Given the description of an element on the screen output the (x, y) to click on. 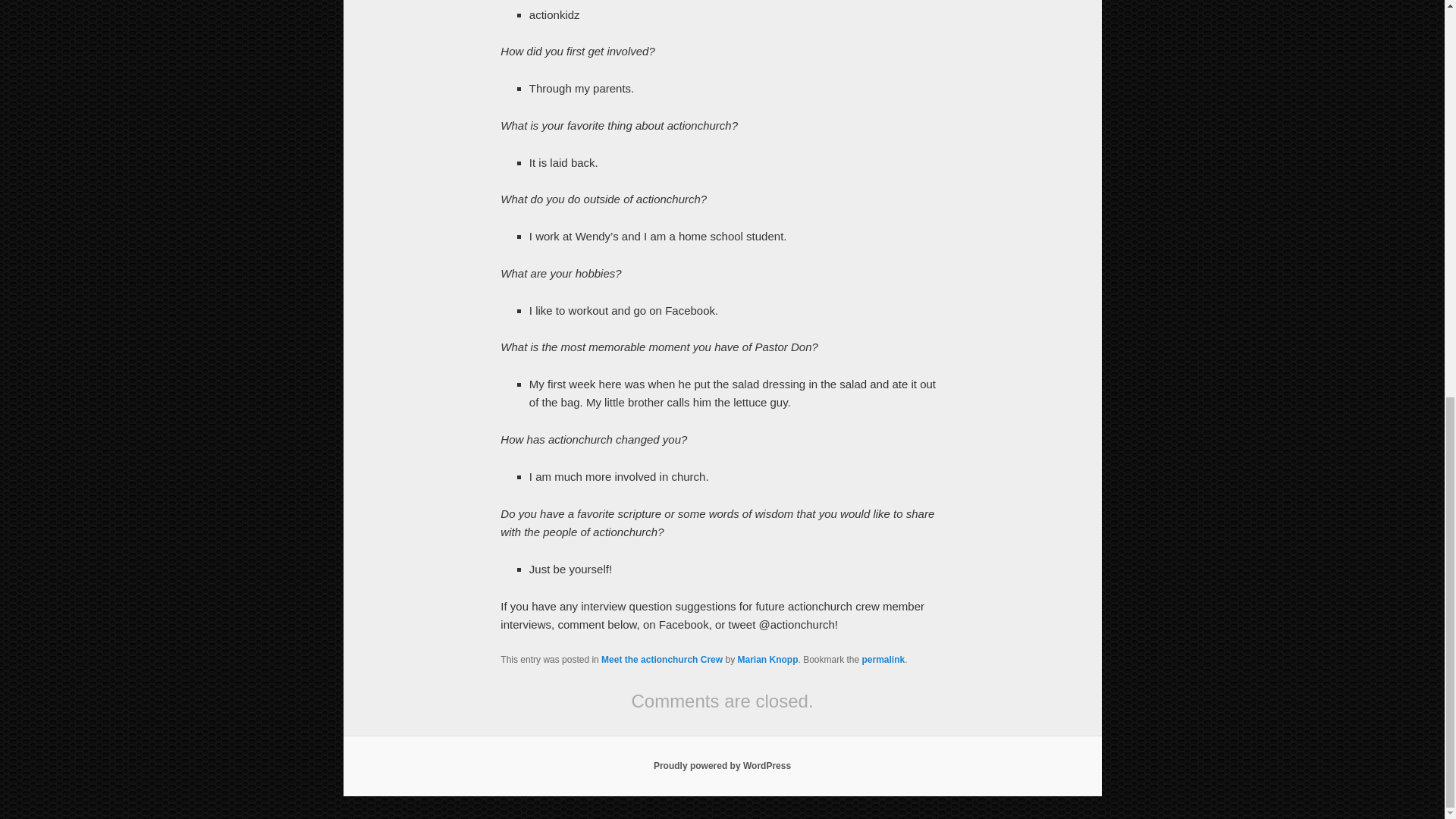
Semantic Personal Publishing Platform (721, 765)
Proudly powered by WordPress (721, 765)
Permalink to actionchurch Crew Member: Megan Bradds (883, 659)
permalink (883, 659)
Marian Knopp (766, 659)
Meet the actionchurch Crew (661, 659)
